Given the description of an element on the screen output the (x, y) to click on. 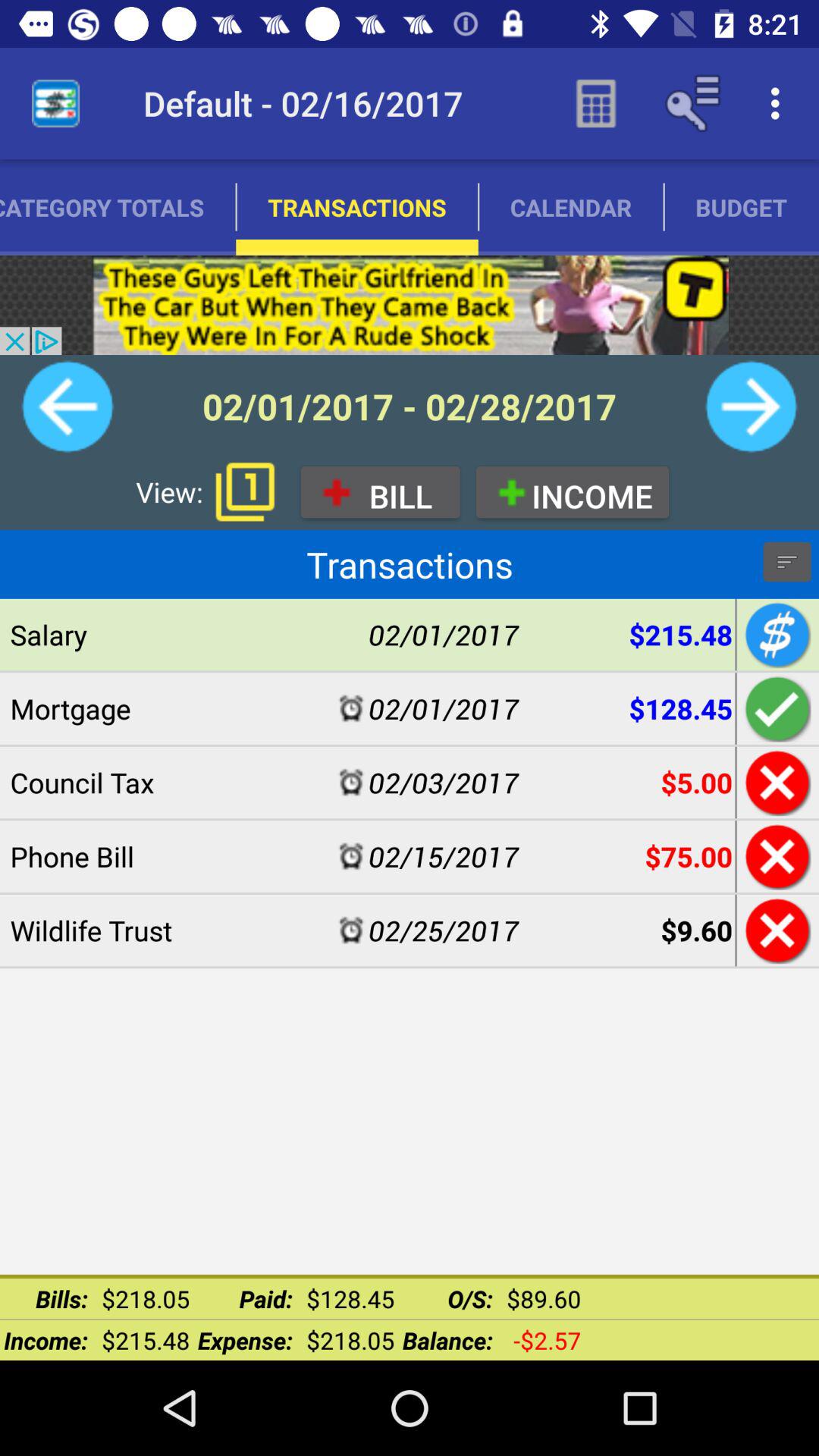
back (67, 406)
